Given the description of an element on the screen output the (x, y) to click on. 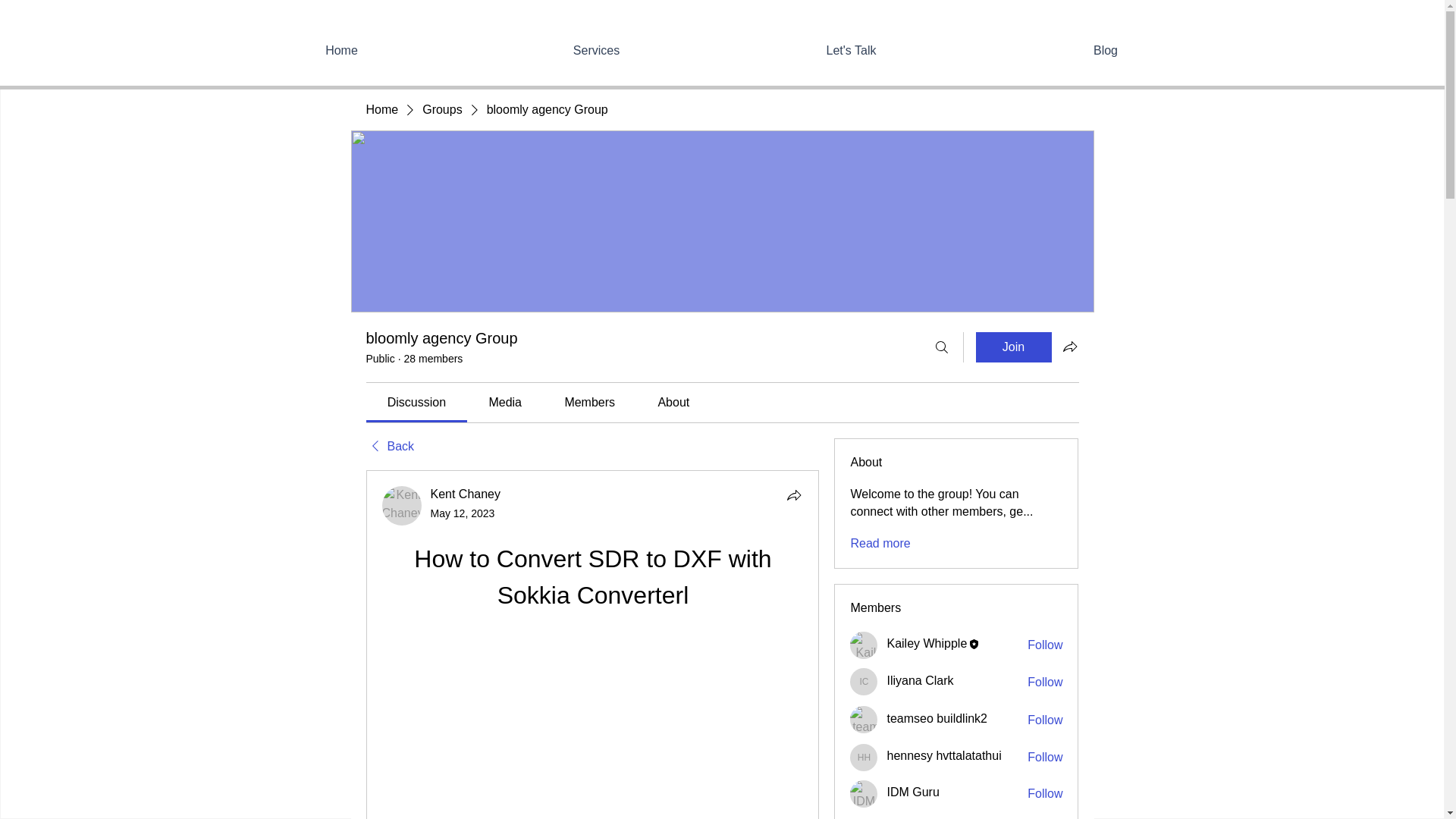
Kent Chaney (401, 505)
IDM Guru (863, 793)
Iliyana  Clark (863, 681)
Kailey Whipple (926, 643)
Read more (880, 543)
hennesy hvttalatathui (943, 755)
Follow (1044, 793)
Home (341, 50)
Services (595, 50)
Home (381, 109)
Blog (1104, 50)
Back (389, 446)
Join (1013, 347)
Follow (1044, 682)
teamseo buildlink2 (863, 719)
